Given the description of an element on the screen output the (x, y) to click on. 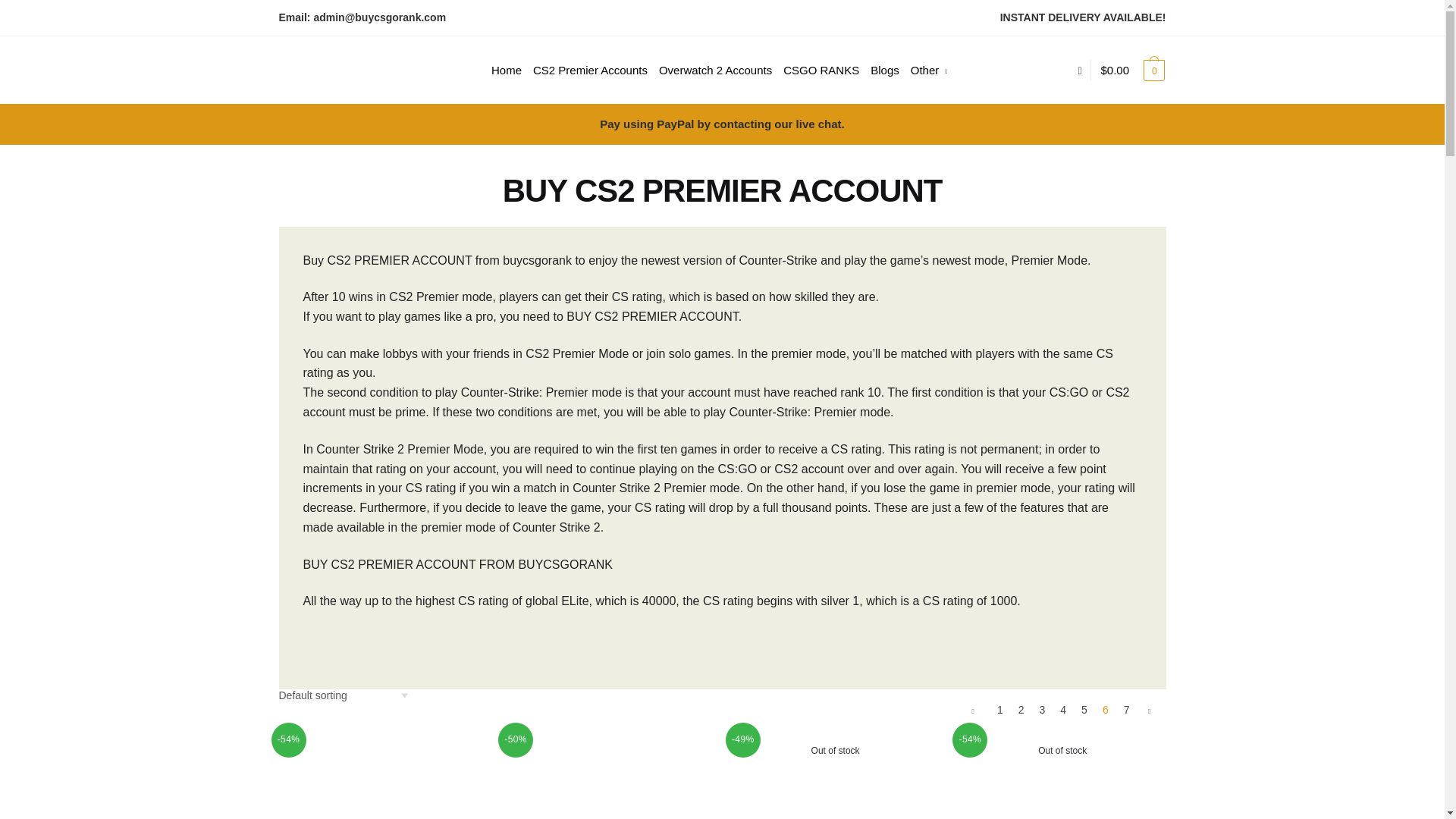
Search (470, 45)
CSGO RANKS (821, 70)
INSTANT DELIVERY AVAILABLE! (1083, 17)
CS2 Premier Accounts (589, 70)
Overwatch 2 Accounts (715, 70)
View your shopping cart (1133, 70)
